Given the description of an element on the screen output the (x, y) to click on. 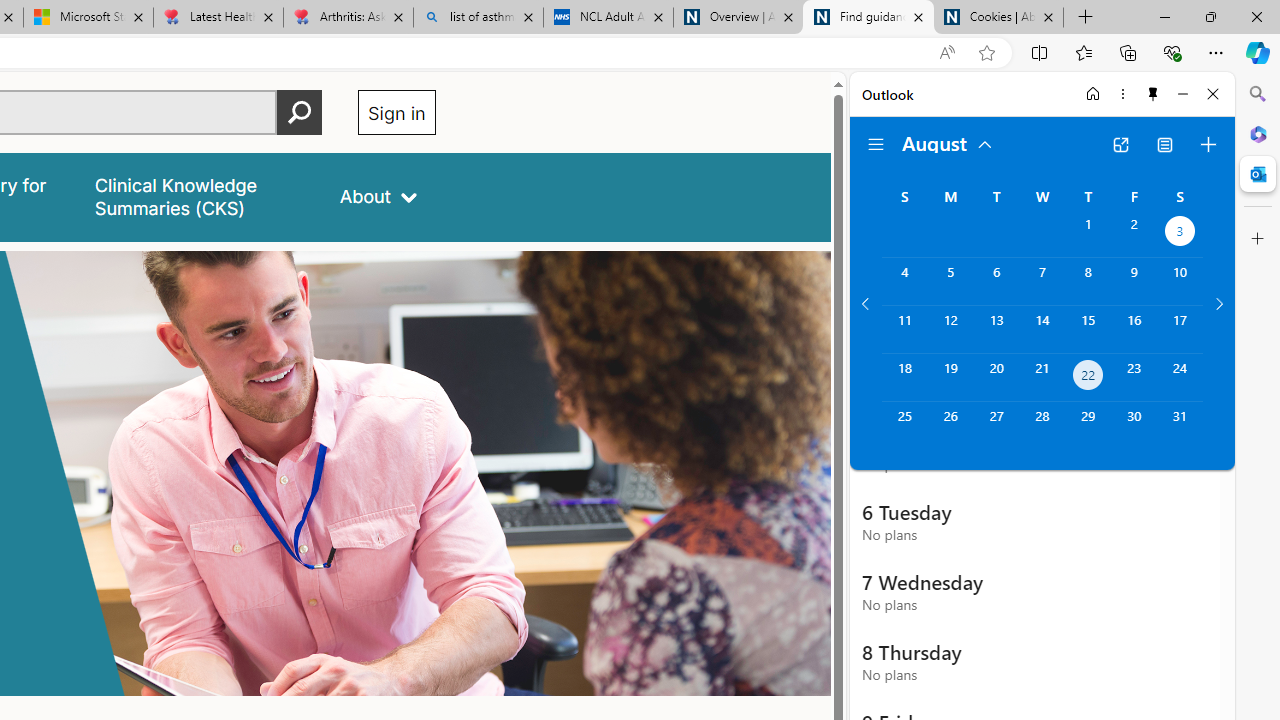
Settings and more (Alt+F) (1215, 52)
Wednesday, August 28, 2024.  (1042, 425)
Find guidance | NICE (868, 17)
View Switcher. Current view is Agenda view (1165, 144)
Monday, August 26, 2024.  (950, 425)
Thursday, August 29, 2024.  (1088, 425)
Saturday, August 31, 2024.  (1180, 425)
Friday, August 9, 2024.  (1134, 281)
About (378, 196)
list of asthma inhalers uk - Search (477, 17)
Favorites (1083, 52)
Close tab (1048, 16)
